Given the description of an element on the screen output the (x, y) to click on. 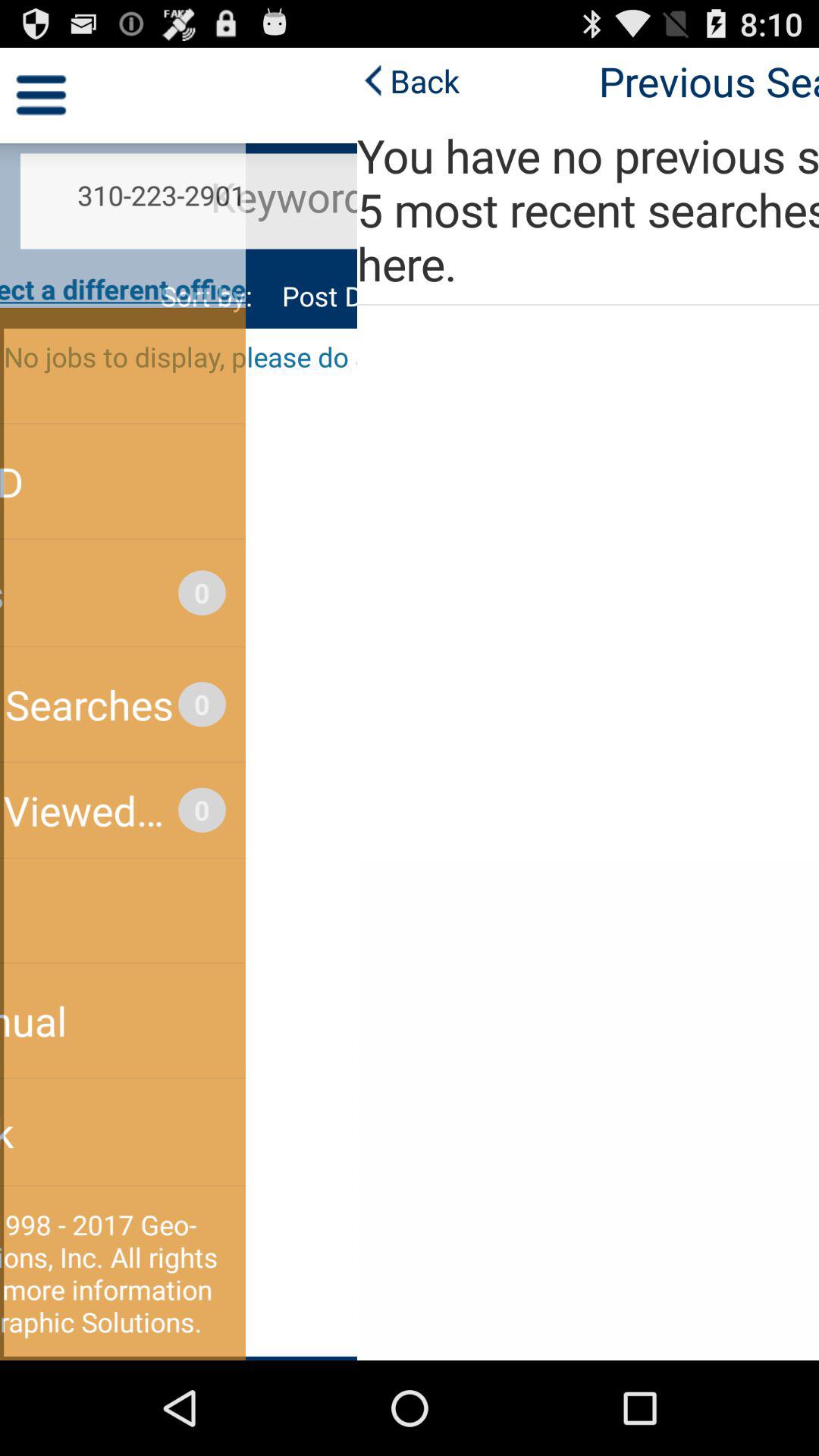
launch the back item (51, 80)
